Given the description of an element on the screen output the (x, y) to click on. 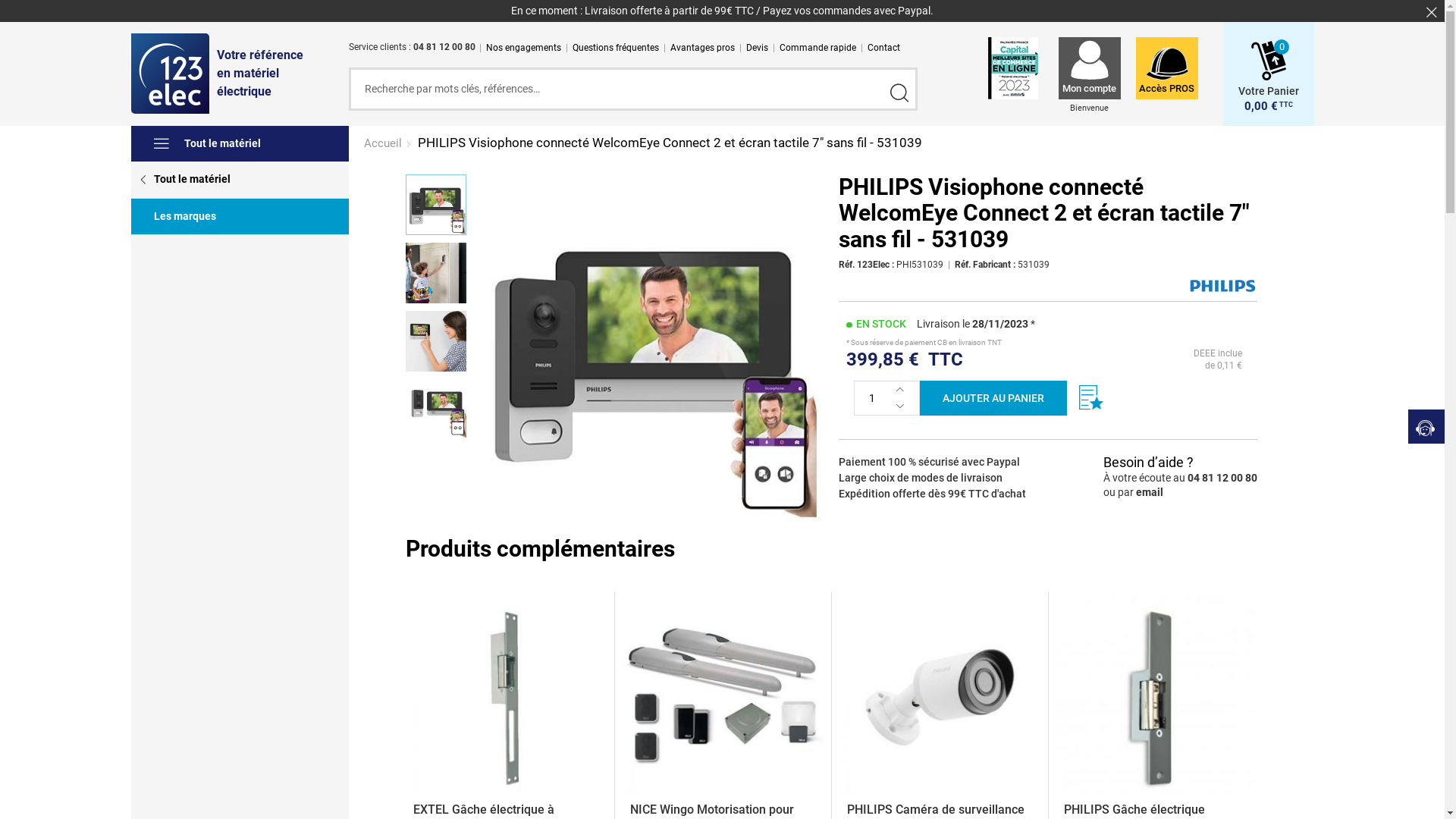
AJOUTER AU PANIER Element type: text (992, 397)
04 81 12 00 80 Element type: text (1222, 477)
Avantages pros Element type: text (702, 47)
Devis Element type: text (756, 47)
Nos engagements Element type: text (523, 47)
123elec Element type: text (169, 73)
Valider Element type: text (898, 92)
Commande rapide Element type: text (817, 47)
Contact Element type: text (883, 47)
Accueil Element type: text (384, 143)
email Element type: text (1149, 492)
Mon compte
Bienvenue Element type: text (1089, 81)
Fermer Element type: text (1431, 12)
Votre Panier
  Element type: text (1267, 82)
